Given the description of an element on the screen output the (x, y) to click on. 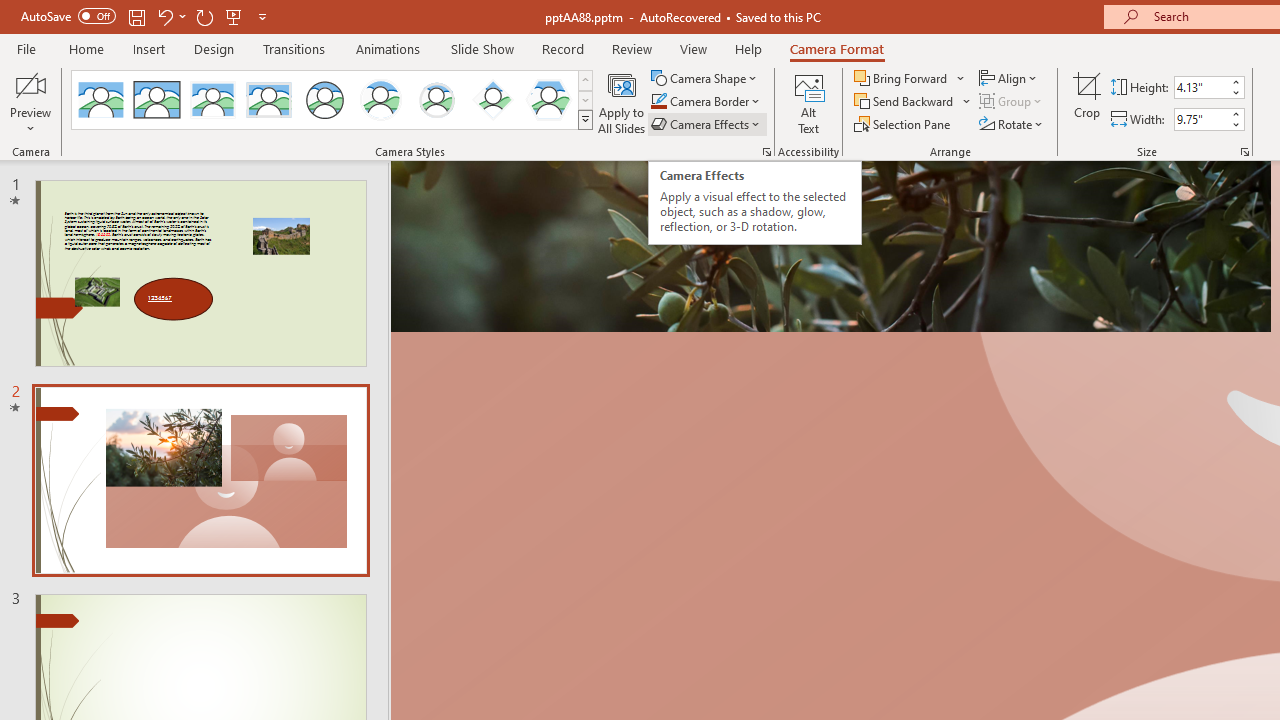
Bring Forward (902, 78)
Selection Pane... (904, 124)
